Given the description of an element on the screen output the (x, y) to click on. 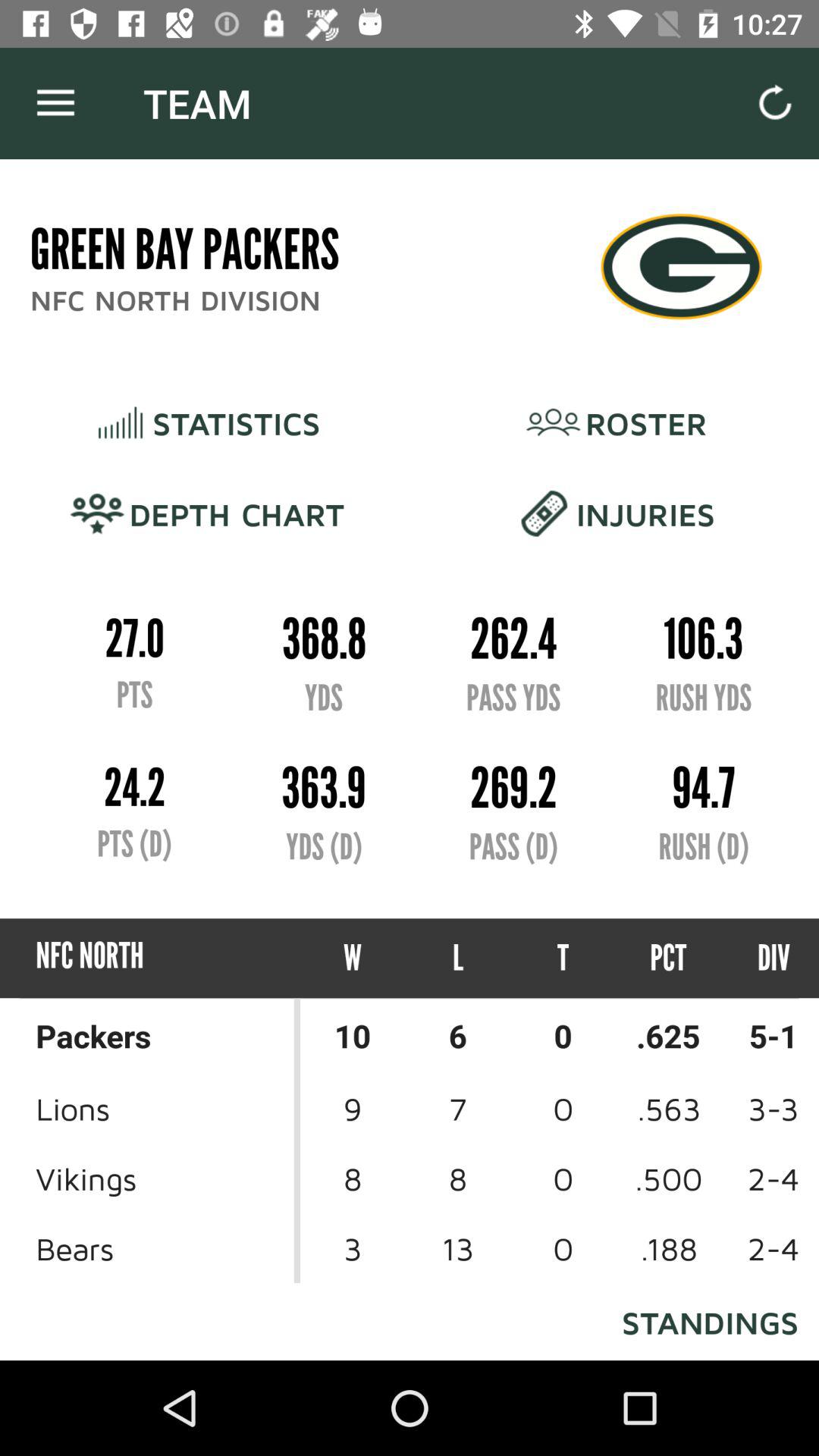
press icon to the left of t (457, 958)
